Given the description of an element on the screen output the (x, y) to click on. 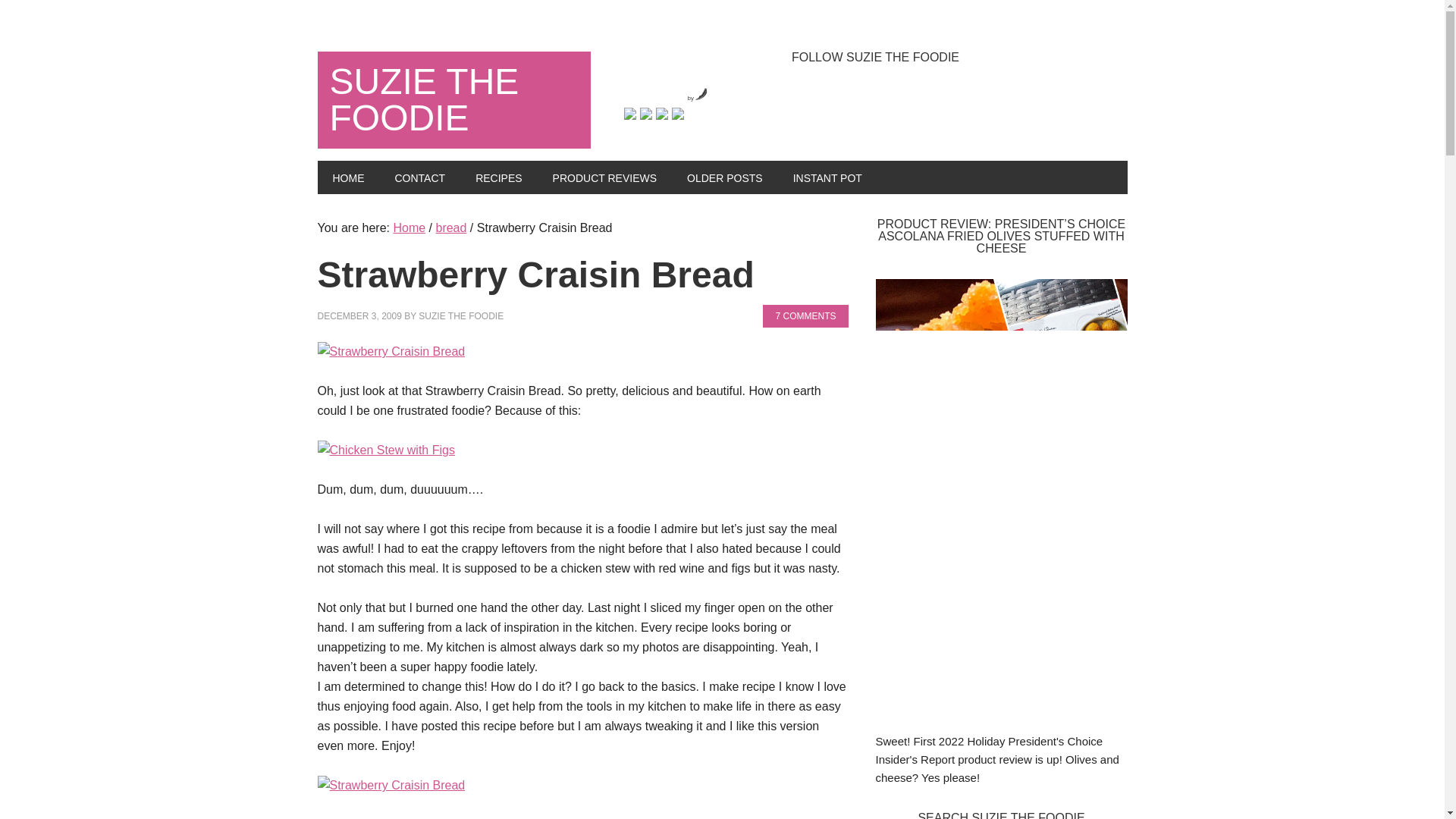
Chicken Stew with Figs by Suzie Ridler, on Flickr (385, 449)
Follow me on Facebook (628, 113)
SUZIE THE FOODIE (453, 99)
Strawberry Craisin Bread by Suzie Ridler, on Flickr (390, 350)
RECIPES (498, 177)
bread (450, 227)
Follow me on Pinterest (660, 113)
CONTACT (419, 177)
7 COMMENTS (804, 315)
INSTANT POT (827, 177)
